Given the description of an element on the screen output the (x, y) to click on. 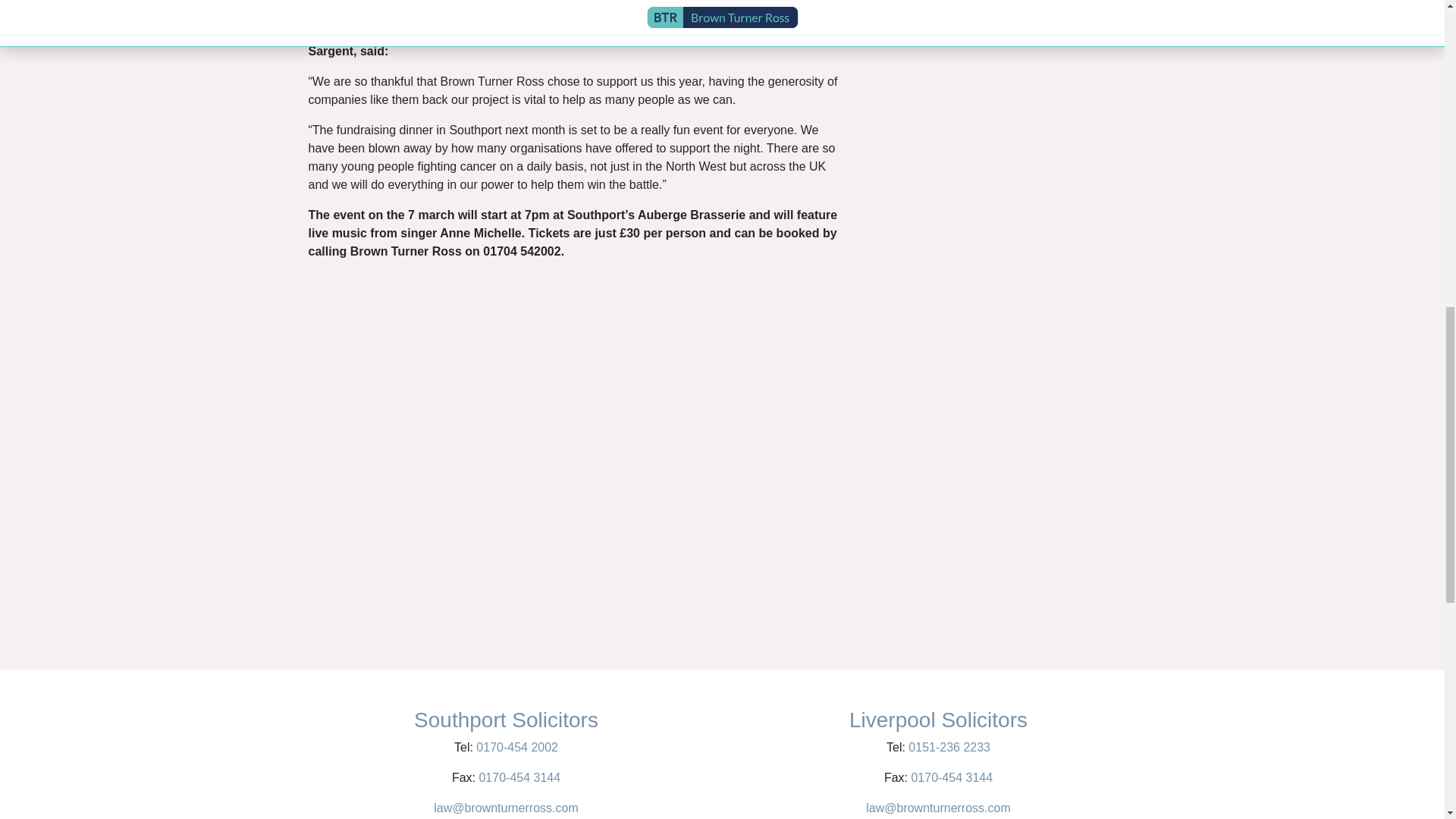
0170-454 3144 (519, 777)
0170-454 2002 (515, 747)
Southport Solicitors (505, 720)
Liverpool Solicitors (937, 720)
0170-454 3144 (949, 777)
0151-236 2233 (947, 747)
